Given the description of an element on the screen output the (x, y) to click on. 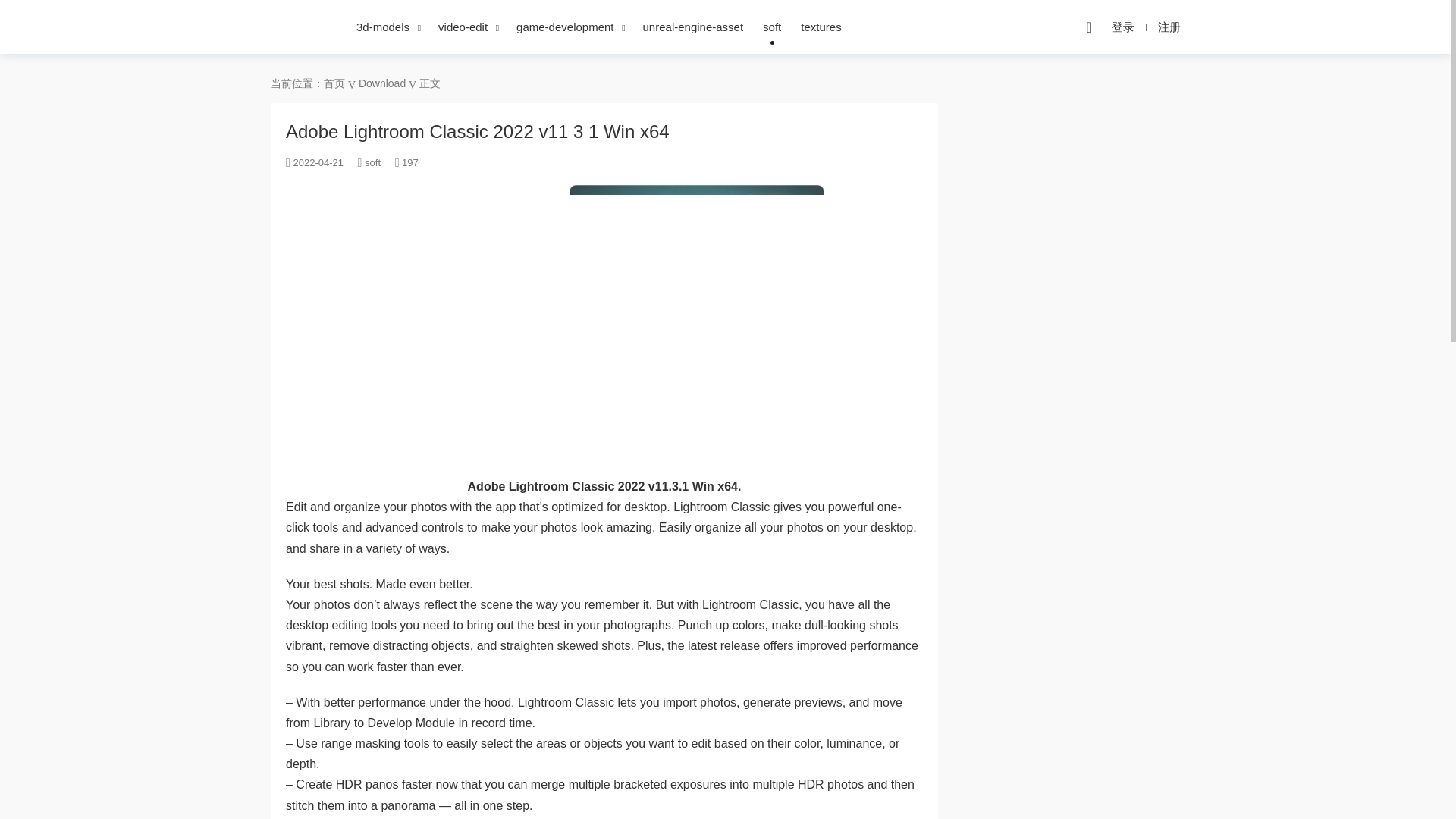
video-edit (462, 27)
game-development (564, 27)
soft (372, 162)
textures (820, 27)
unreal-engine-asset (693, 27)
Download (382, 82)
3d-models (382, 27)
